Given the description of an element on the screen output the (x, y) to click on. 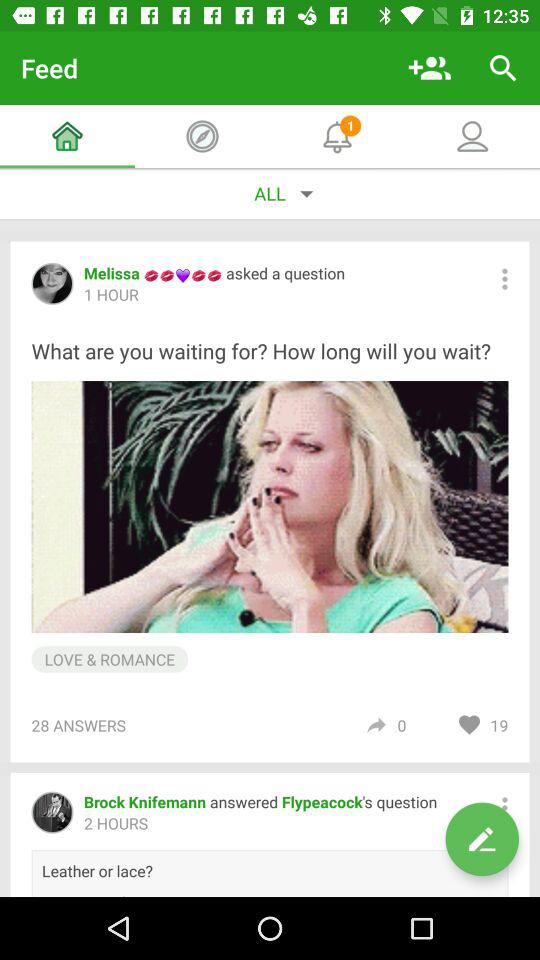
write a comment (482, 839)
